Given the description of an element on the screen output the (x, y) to click on. 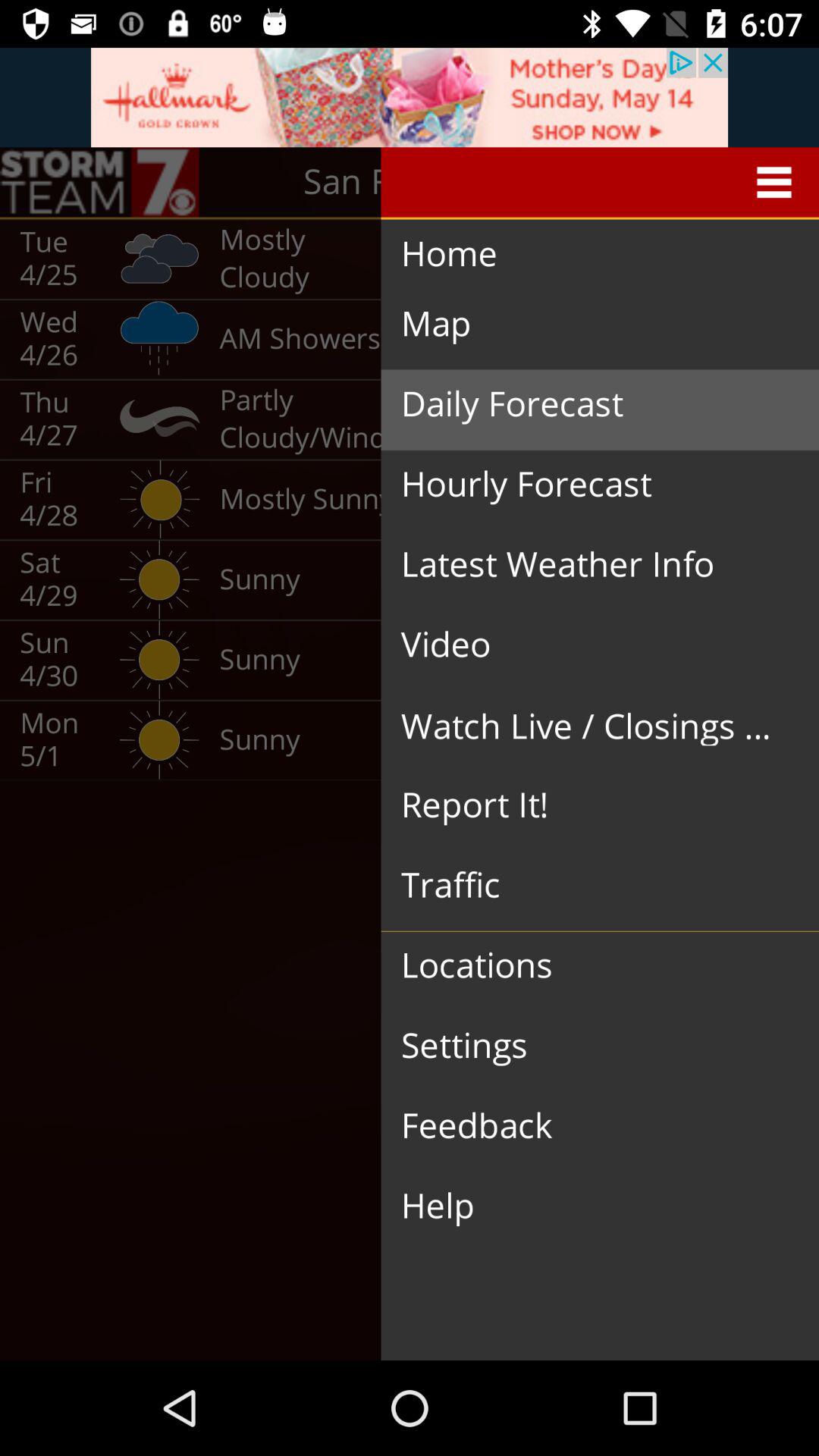
launch the traffic icon (587, 885)
